Given the description of an element on the screen output the (x, y) to click on. 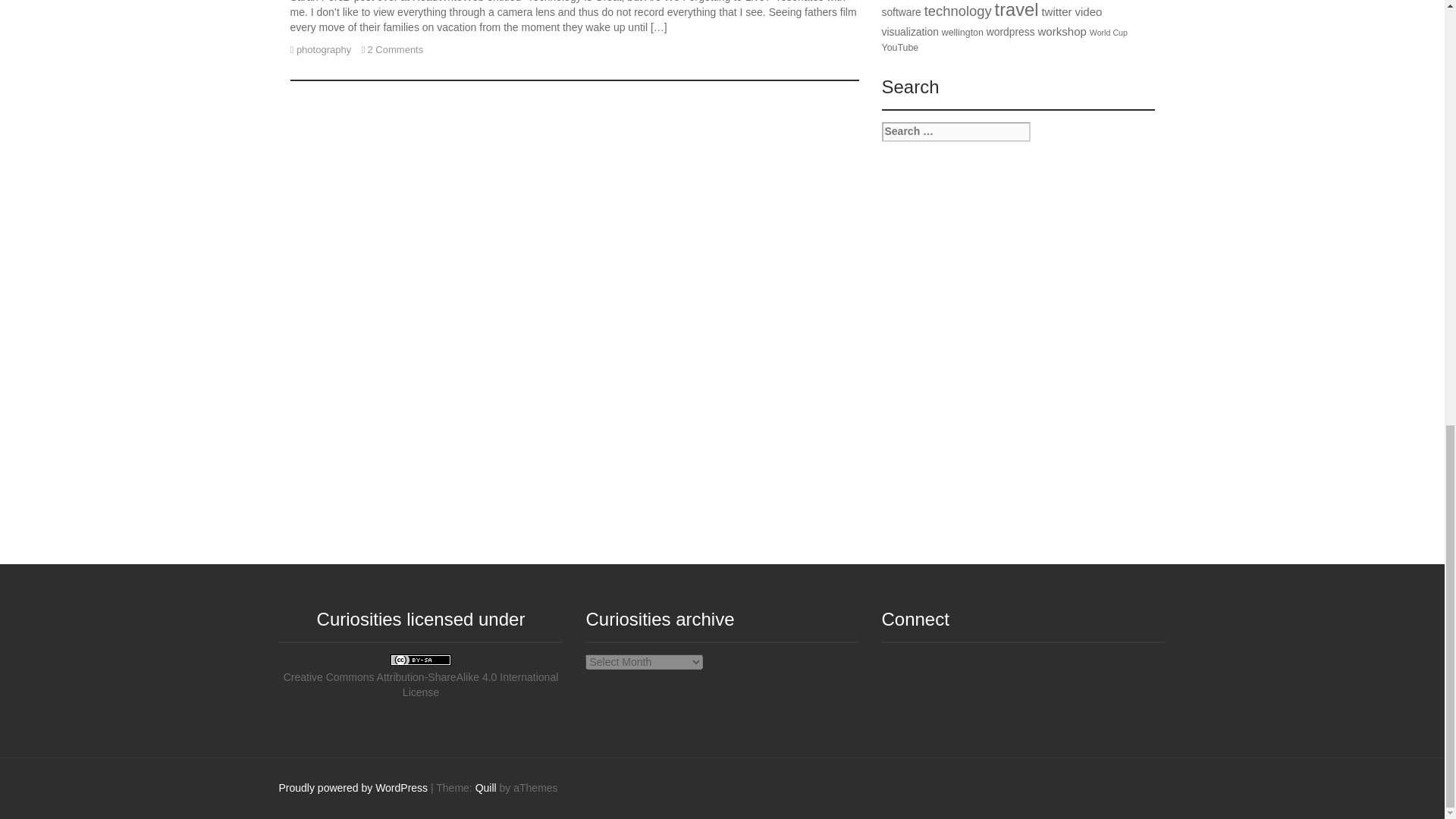
2 Comments (395, 49)
YouTube (927, 694)
Twitter (895, 694)
photography (323, 49)
